Given the description of an element on the screen output the (x, y) to click on. 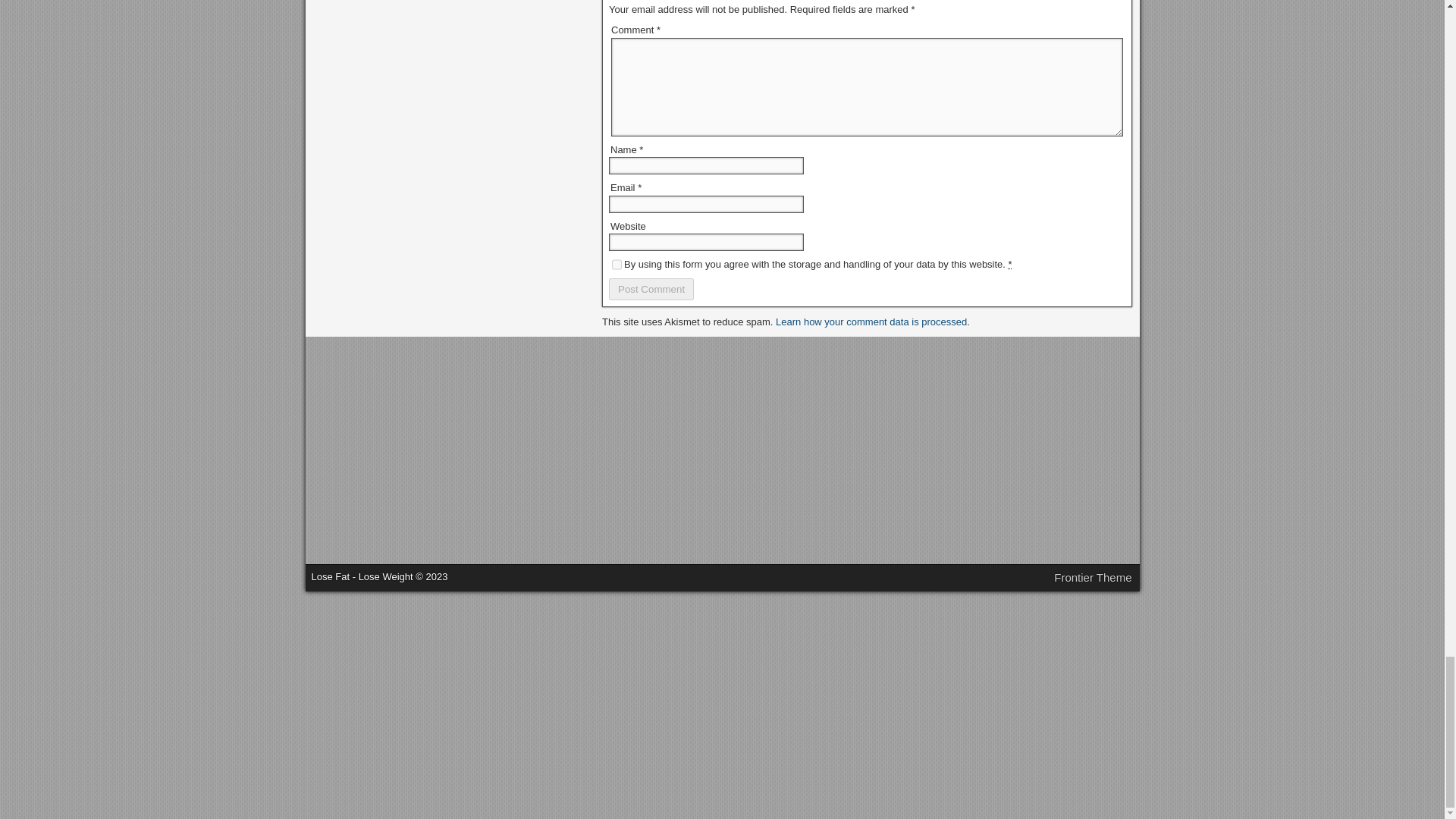
Learn how your comment data is processed (871, 321)
Post Comment (651, 289)
1 (616, 264)
Post Comment (651, 289)
